Given the description of an element on the screen output the (x, y) to click on. 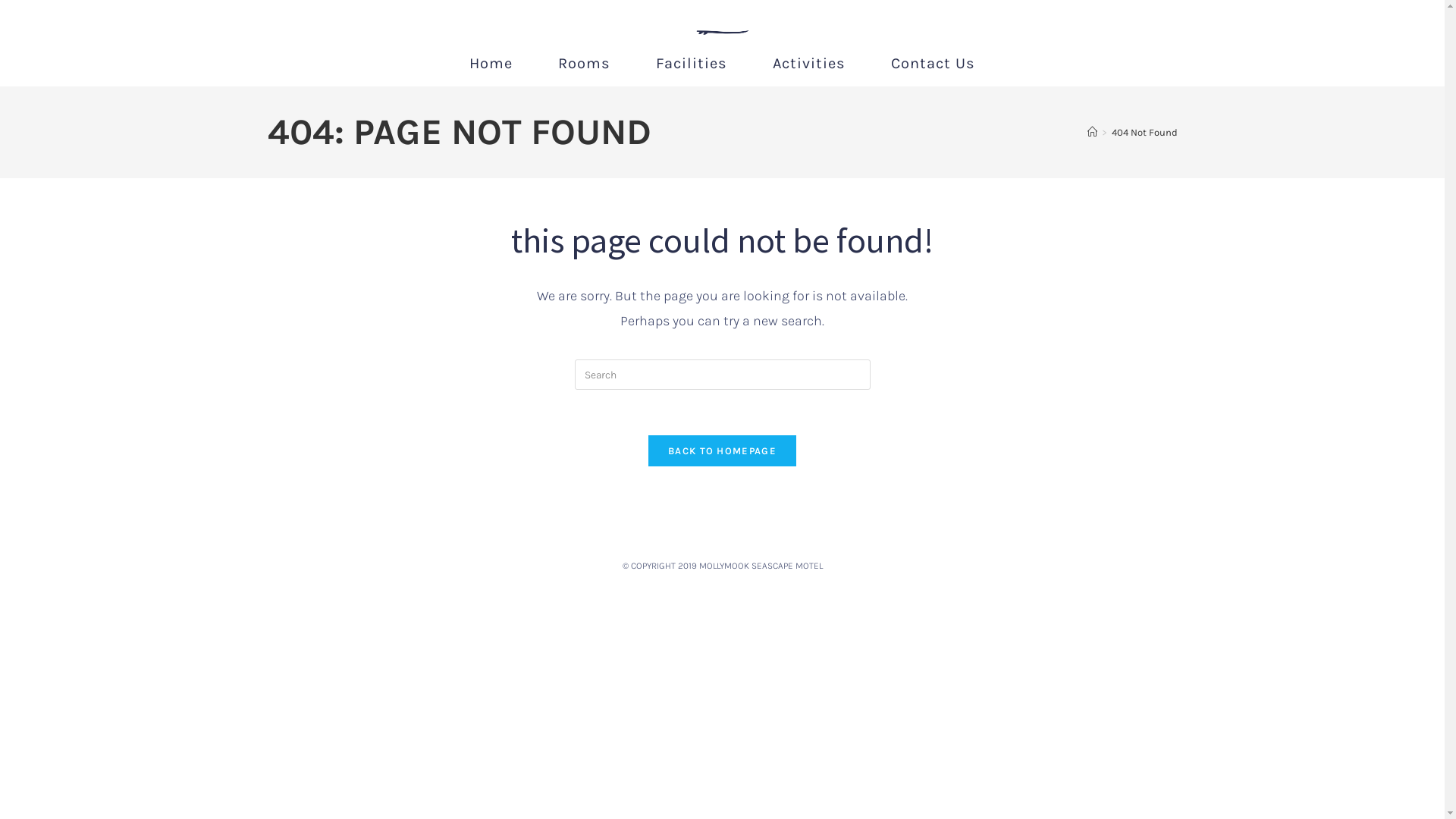
Contact Us Element type: text (932, 63)
Home Element type: text (490, 63)
Activities Element type: text (808, 63)
Rooms Element type: text (584, 63)
BACK TO HOMEPAGE Element type: text (722, 450)
Facilities Element type: text (691, 63)
404 Not Found Element type: text (1144, 132)
